Given the description of an element on the screen output the (x, y) to click on. 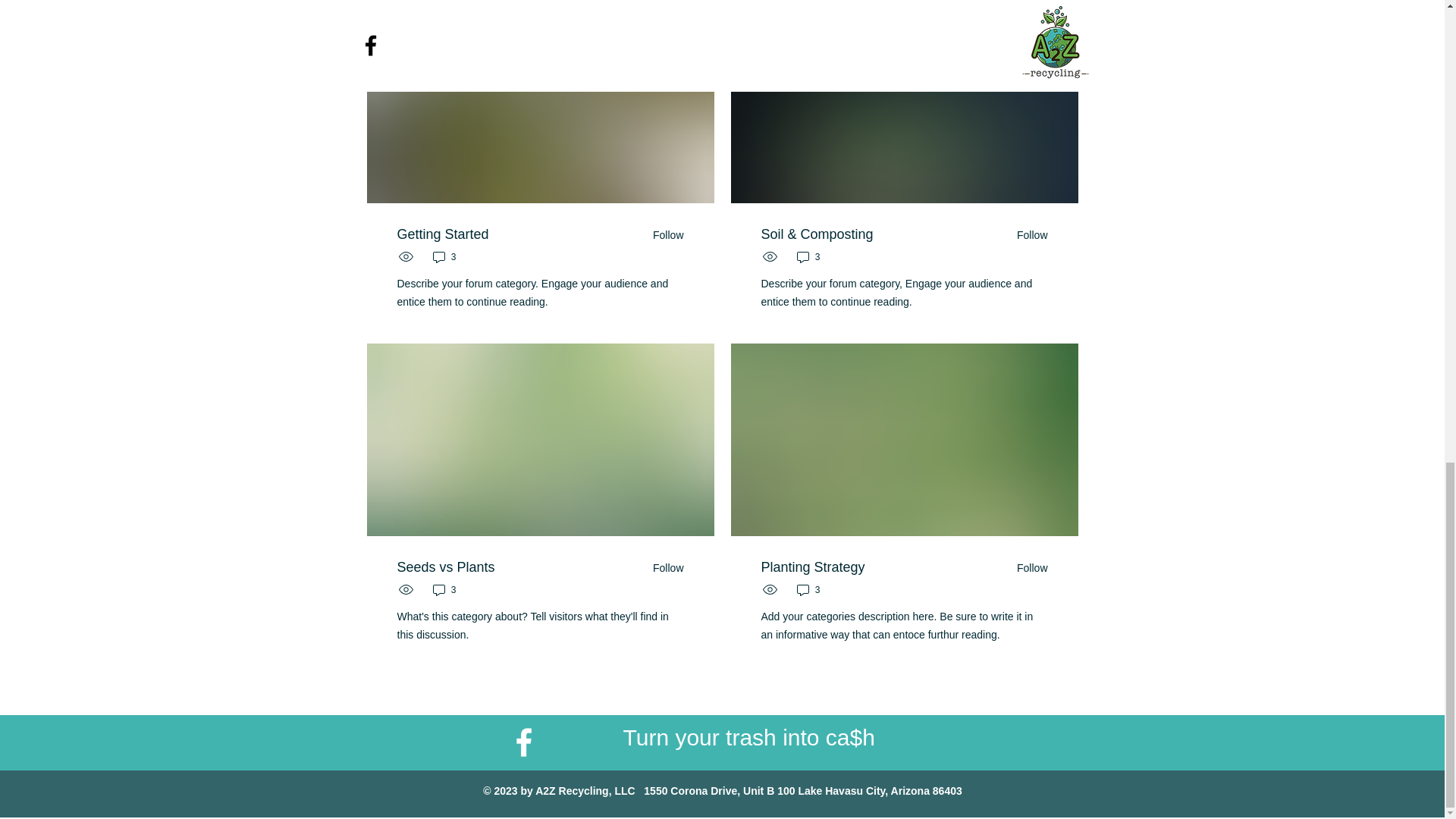
Getting Started (443, 234)
Follow (1026, 234)
Planting Strategy (812, 567)
Follow (1026, 567)
Seeds vs Plants (446, 567)
Follow (662, 234)
Follow (662, 567)
